Given the description of an element on the screen output the (x, y) to click on. 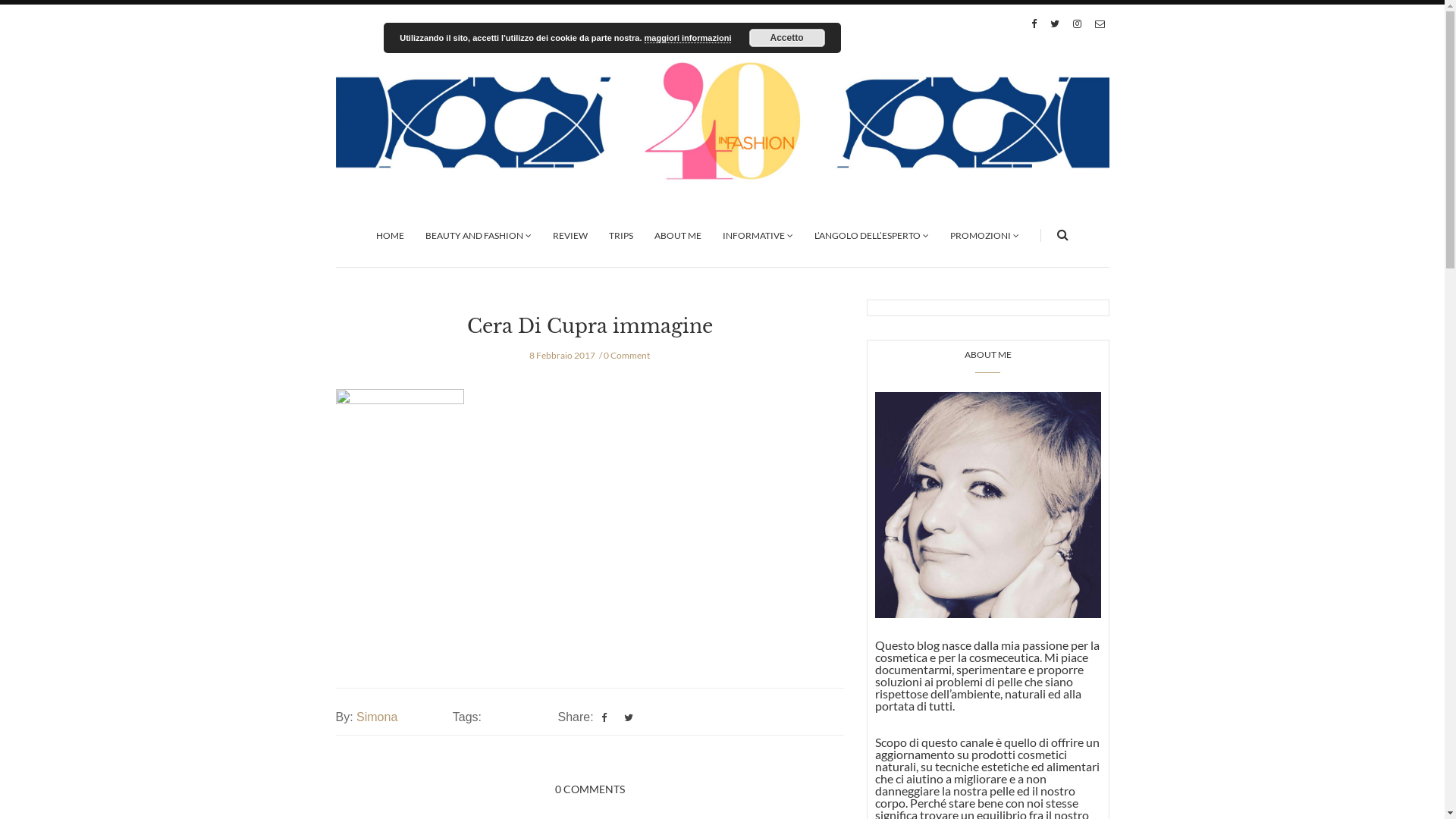
Simona Element type: text (376, 716)
Cera Di Cupra immagine Element type: text (589, 326)
Accetto Element type: text (787, 37)
TRIPS Element type: text (620, 235)
0 Comment Element type: text (626, 354)
PROMOZIONI Element type: text (984, 235)
HOME Element type: text (390, 235)
maggiori informazioni Element type: text (687, 38)
REVIEW Element type: text (569, 235)
INFORMATIVE Element type: text (757, 235)
ABOUT ME Element type: text (677, 235)
BEAUTY AND FASHION Element type: text (478, 235)
